Given the description of an element on the screen output the (x, y) to click on. 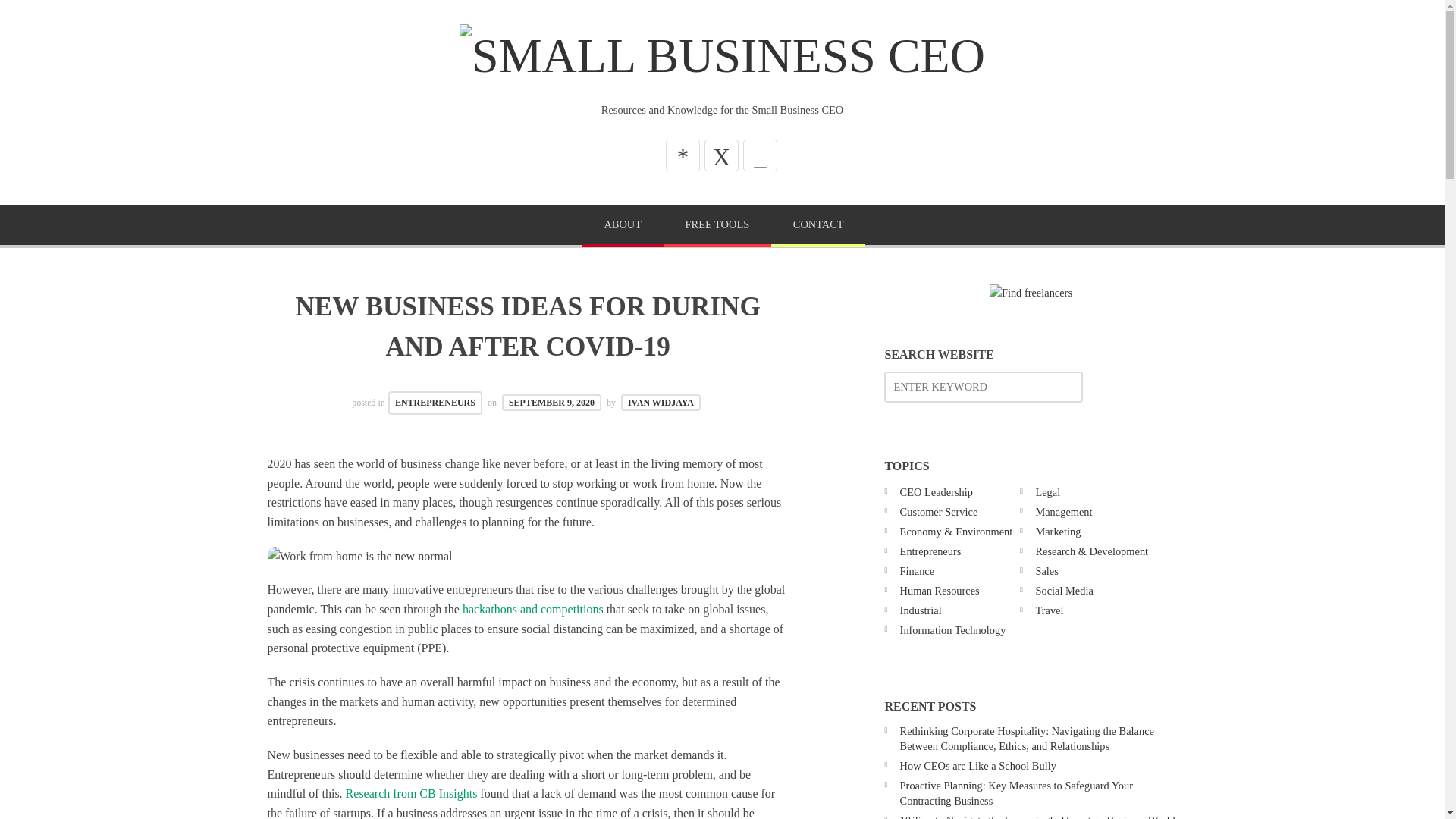
hackathons and competitions (533, 608)
FREE TOOLS (717, 225)
SEPTEMBER 9, 2020 (551, 402)
ENTREPRENEURS (434, 402)
ABOUT (622, 225)
CONTACT (817, 225)
IVAN WIDJAYA (660, 402)
X (721, 155)
Research from CB Insights (411, 793)
View all posts by Ivan Widjaya (660, 402)
